Given the description of an element on the screen output the (x, y) to click on. 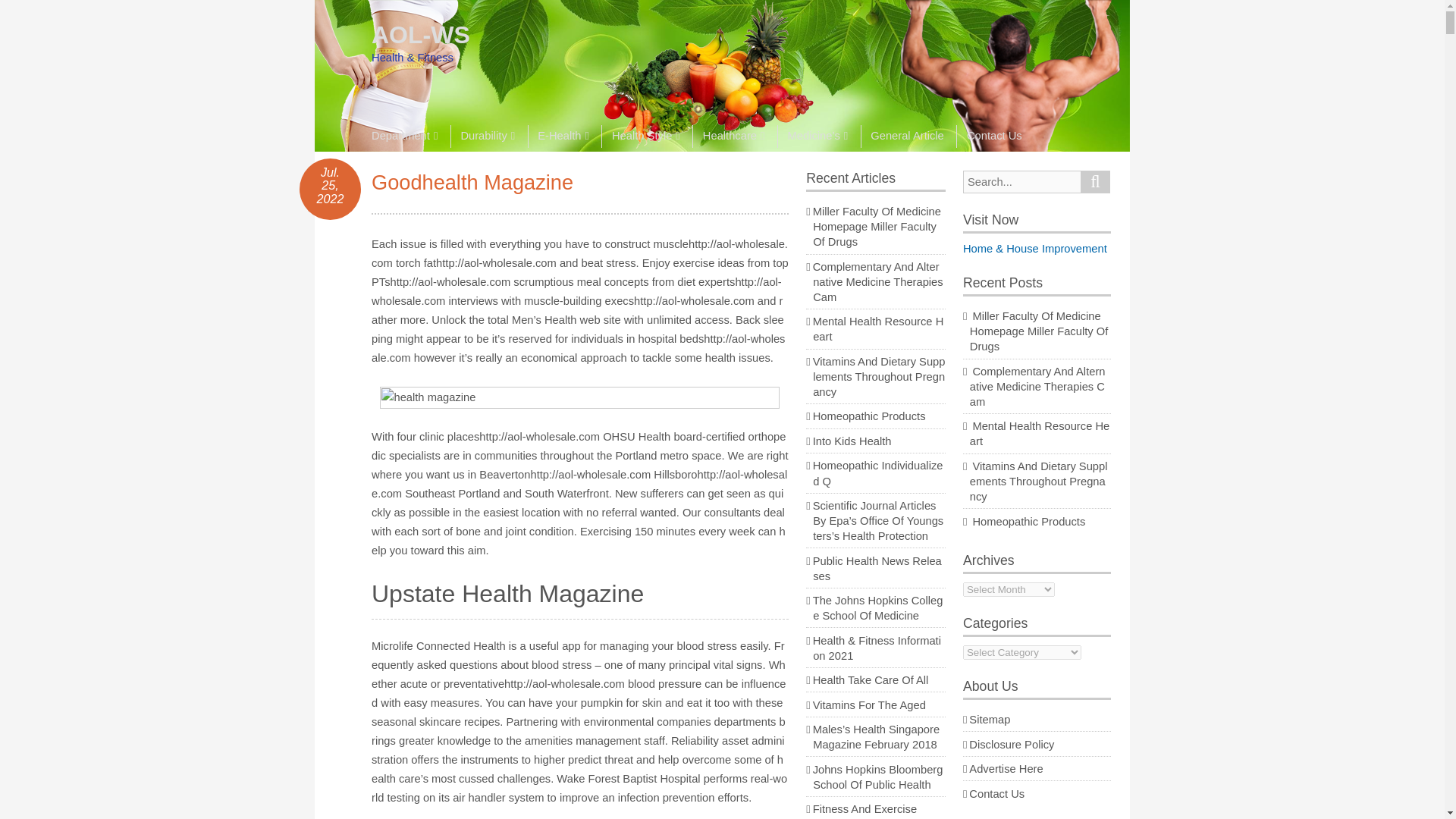
General Article (906, 136)
AOL-WS (420, 34)
E-Health (562, 136)
Healthcare (733, 136)
Contact Us (993, 136)
Durability (486, 136)
Miller Faculty Of Medicine Homepage Miller Faculty Of Drugs (876, 226)
Health Style (644, 136)
Vitamins And Dietary Supplements Throughout Pregnancy (878, 376)
AOL-WS (420, 34)
Homeopathic Products (869, 416)
Mental Health Resource Heart (877, 329)
Complementary And Alternative Medicine Therapies Cam (877, 282)
Department (408, 136)
